Given the description of an element on the screen output the (x, y) to click on. 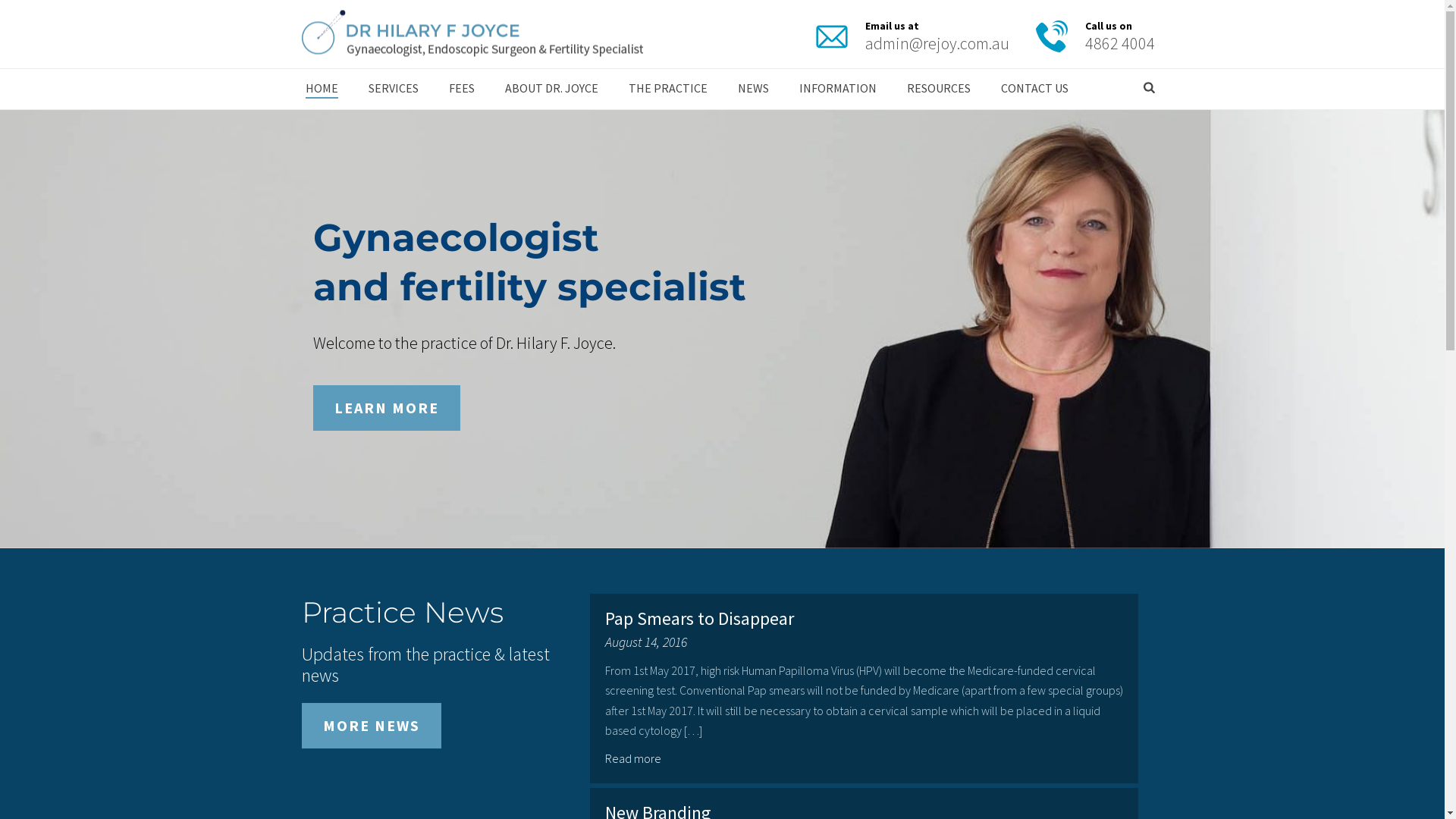
HOME Element type: text (320, 89)
ABOUT DR. JOYCE Element type: text (551, 89)
LEARN MORE Element type: text (385, 407)
Pap Smears to Disappear Element type: text (699, 618)
CONTACT US Element type: text (1034, 89)
MORE NEWS Element type: text (371, 725)
NEWS Element type: text (752, 89)
Read more Element type: text (635, 757)
Dr. Hilary F. Joyce Element type: hover (472, 34)
RESOURCES Element type: text (938, 89)
THE PRACTICE Element type: text (666, 89)
INFORMATION Element type: text (837, 89)
FEES Element type: text (461, 89)
SERVICES Element type: text (393, 89)
